Given the description of an element on the screen output the (x, y) to click on. 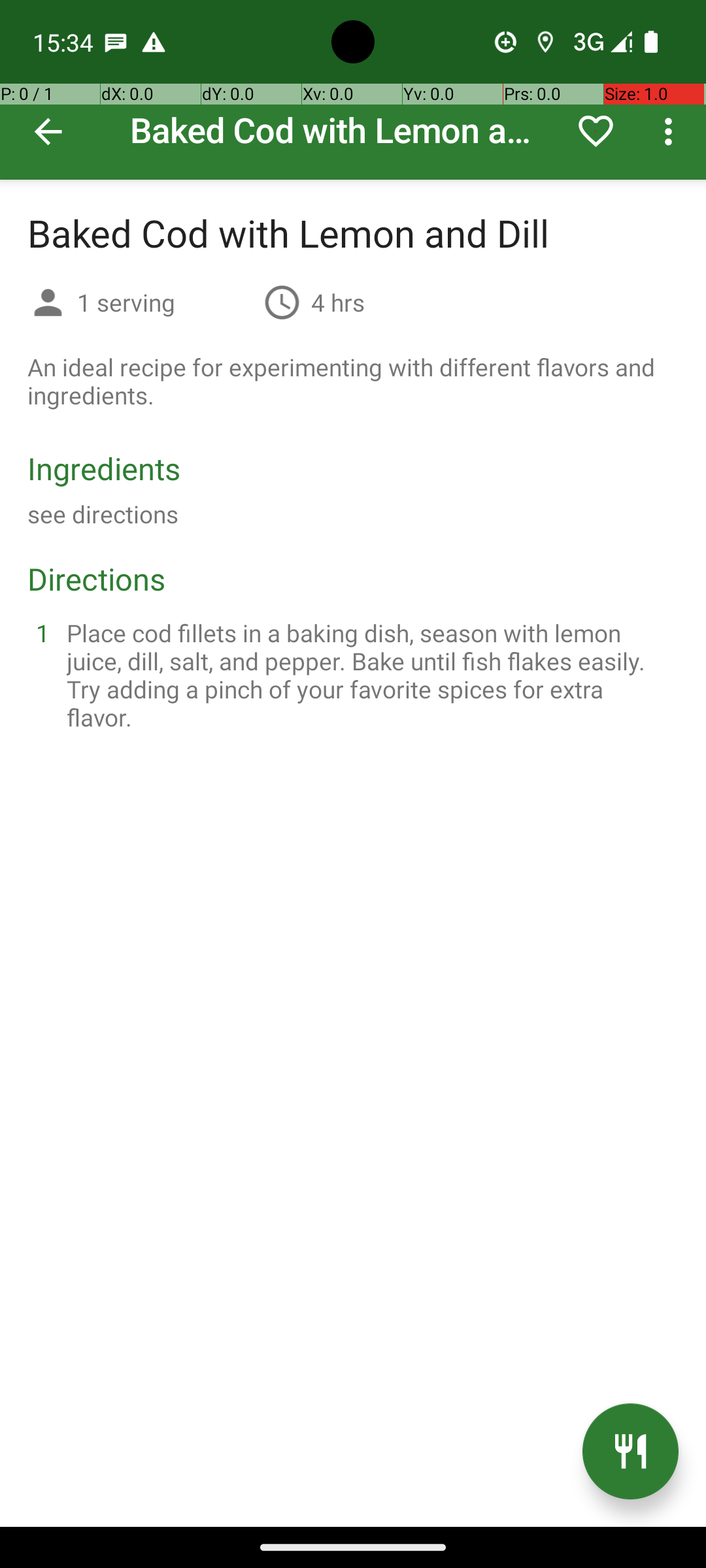
Baked Cod with Lemon and Dill Element type: android.widget.FrameLayout (353, 89)
1 serving Element type: android.widget.TextView (164, 301)
4 hrs Element type: android.widget.TextView (337, 301)
see directions Element type: android.widget.TextView (102, 513)
Place cod fillets in a baking dish, season with lemon juice, dill, salt, and pepper. Bake until fish flakes easily. Try adding a pinch of your favorite spices for extra flavor. Element type: android.widget.TextView (368, 674)
